Given the description of an element on the screen output the (x, y) to click on. 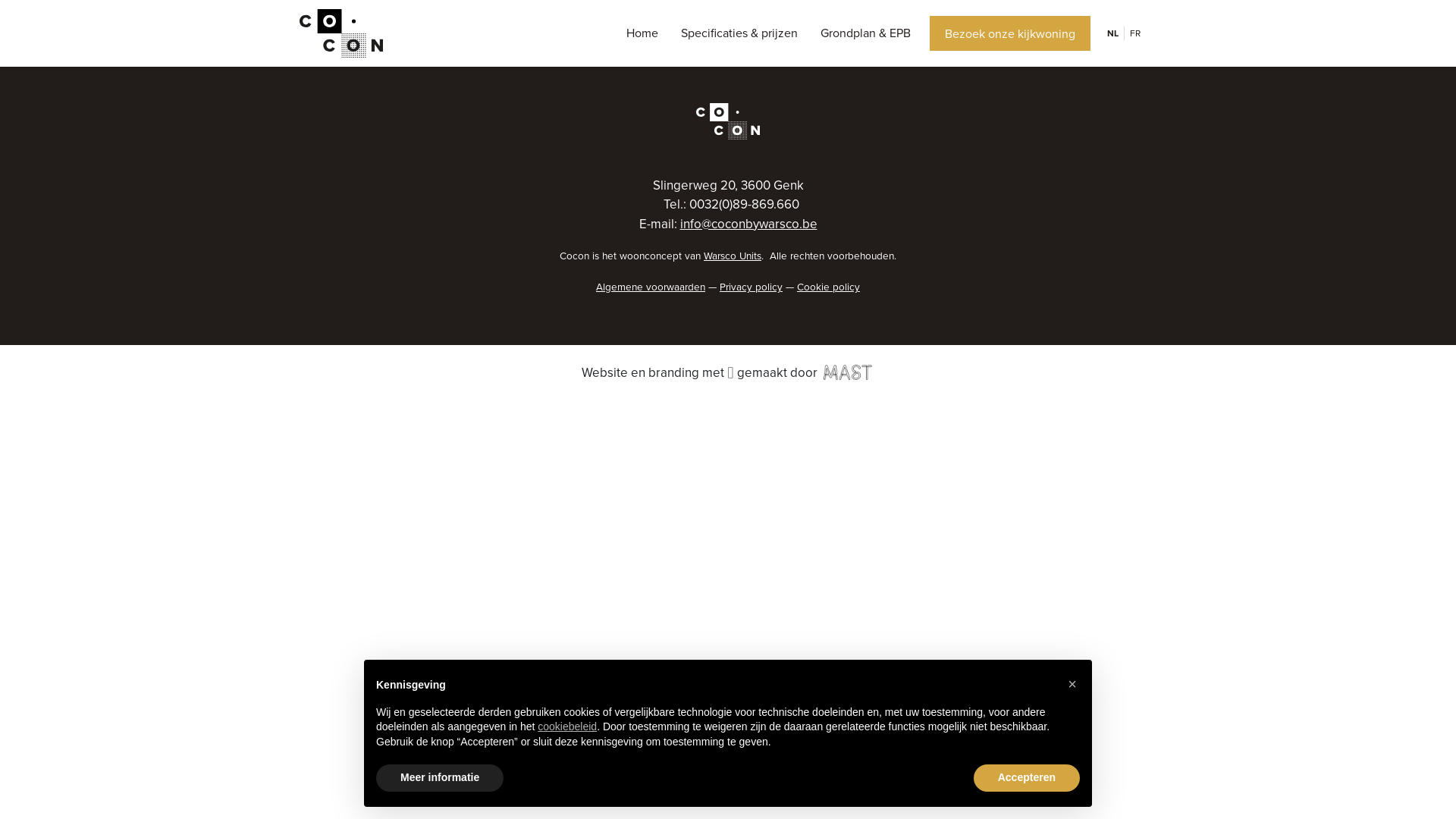
Accepteren Element type: text (1026, 777)
NL Element type: text (1112, 33)
Bezoek onze kijkwoning Element type: text (1009, 32)
cookiebeleid Element type: text (566, 726)
info@coconbywarsco.be Element type: text (747, 223)
Warsco Units Element type: text (732, 256)
Privacy policy Element type: text (750, 287)
Grondplan & EPB Element type: text (865, 33)
Home Element type: text (642, 33)
Algemene voorwaarden Element type: text (650, 287)
Specificaties & prijzen Element type: text (738, 33)
Cookie policy Element type: text (828, 287)
FR Element type: text (1134, 33)
Meer informatie Element type: text (439, 777)
